Given the description of an element on the screen output the (x, y) to click on. 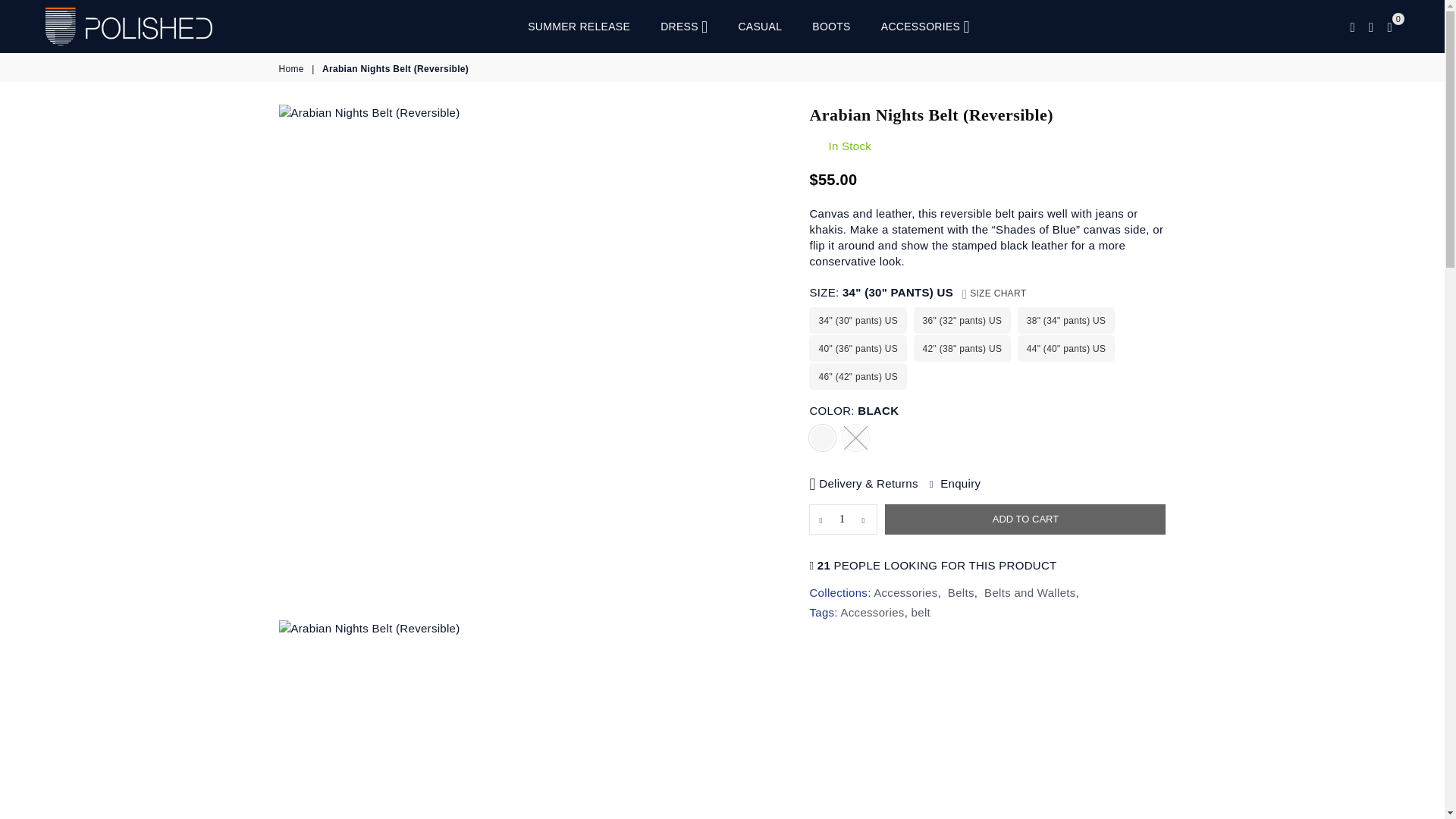
Quantity (843, 519)
ACCESSORIES (925, 26)
BOOTS (830, 26)
CASUAL (759, 26)
DRESS (684, 26)
POLISHED (139, 26)
Back to the home page (292, 69)
SUMMER RELEASE (579, 26)
